Given the description of an element on the screen output the (x, y) to click on. 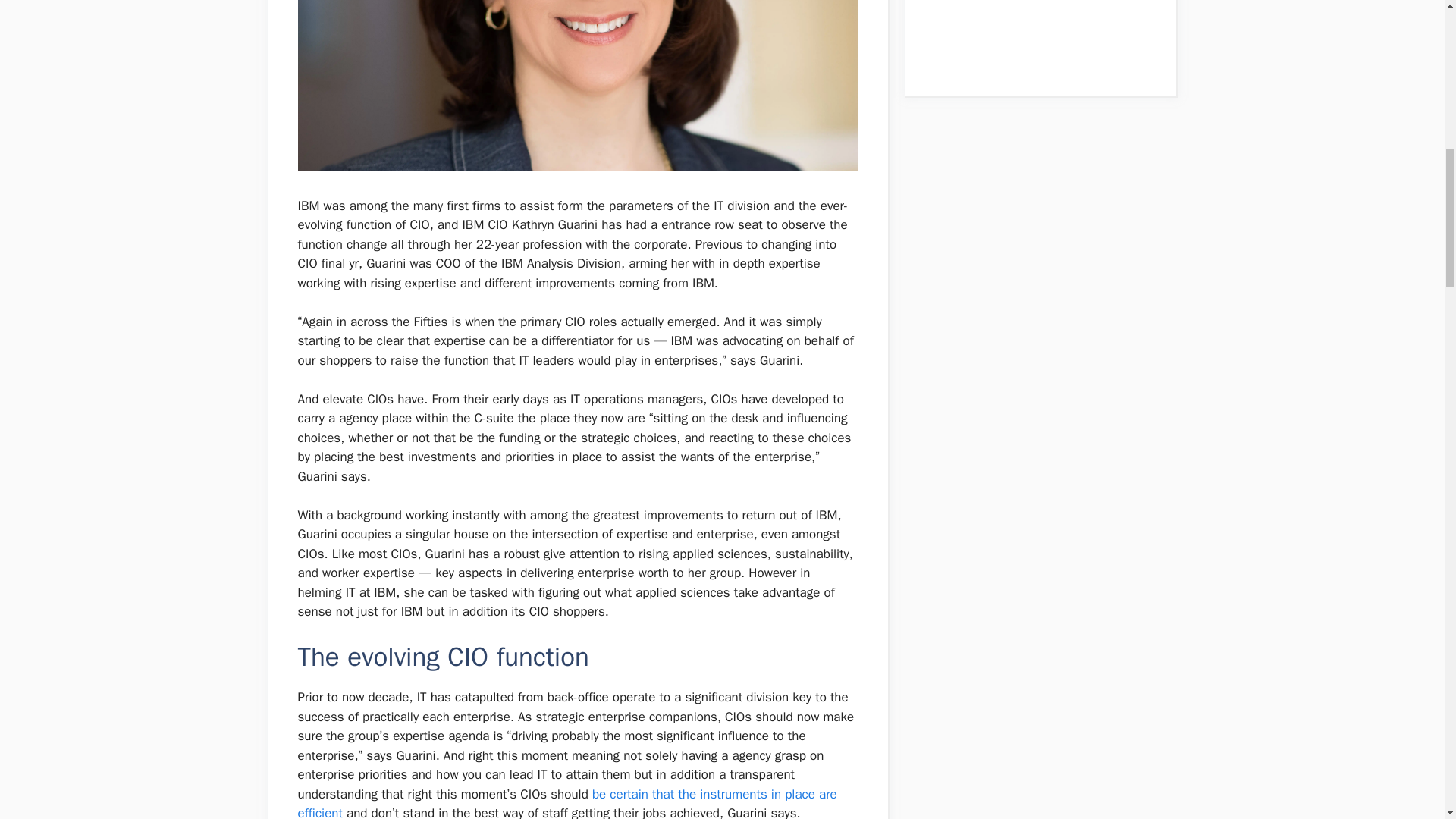
be certain that the instruments in place are efficient (566, 802)
Advertisement (1031, 29)
